Given the description of an element on the screen output the (x, y) to click on. 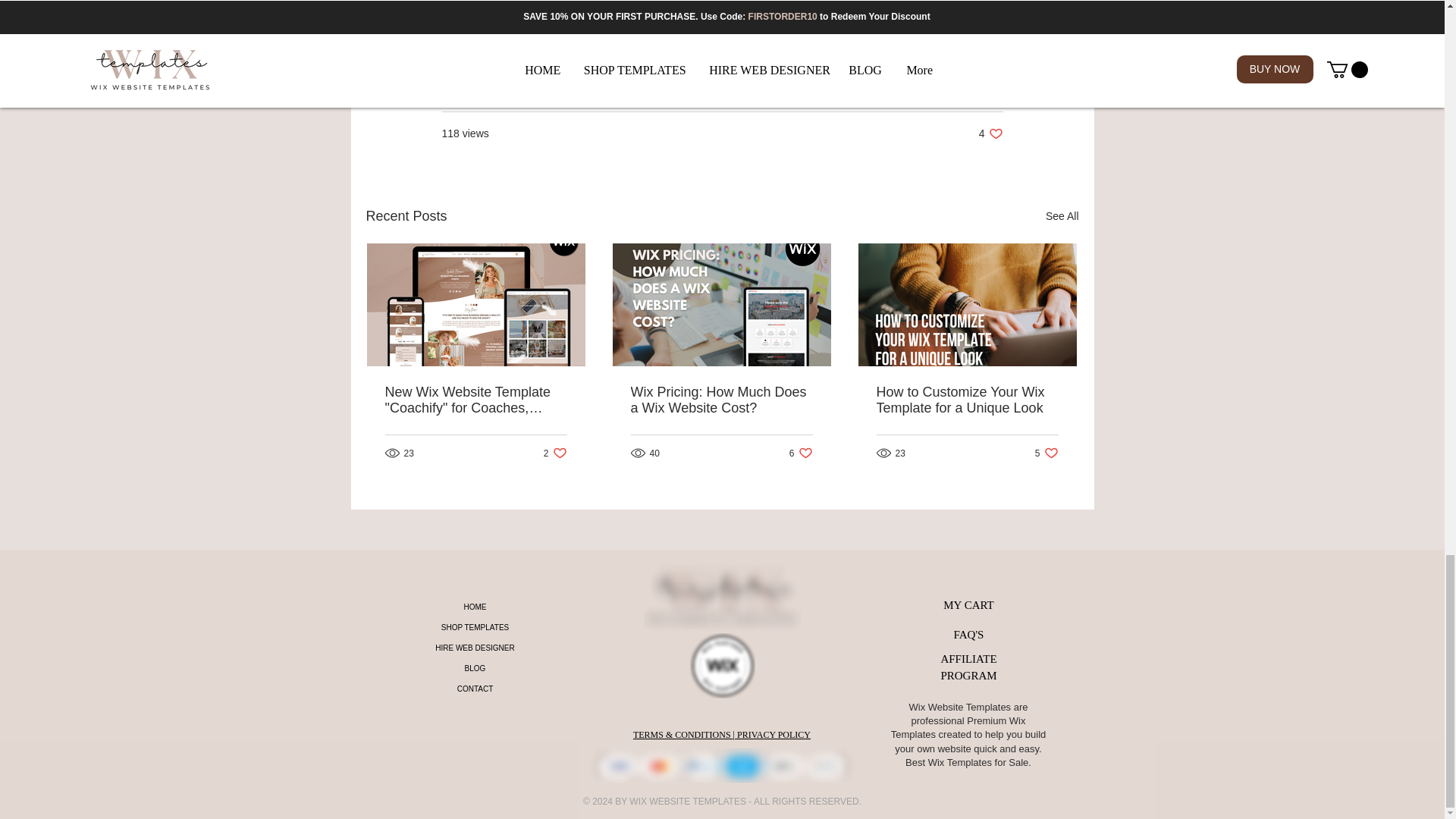
HIRE WEB DESIGNER (475, 648)
HOME (475, 607)
PRIVACY POLICY (772, 734)
CONTACT (1046, 452)
BLOG (555, 452)
